Given the description of an element on the screen output the (x, y) to click on. 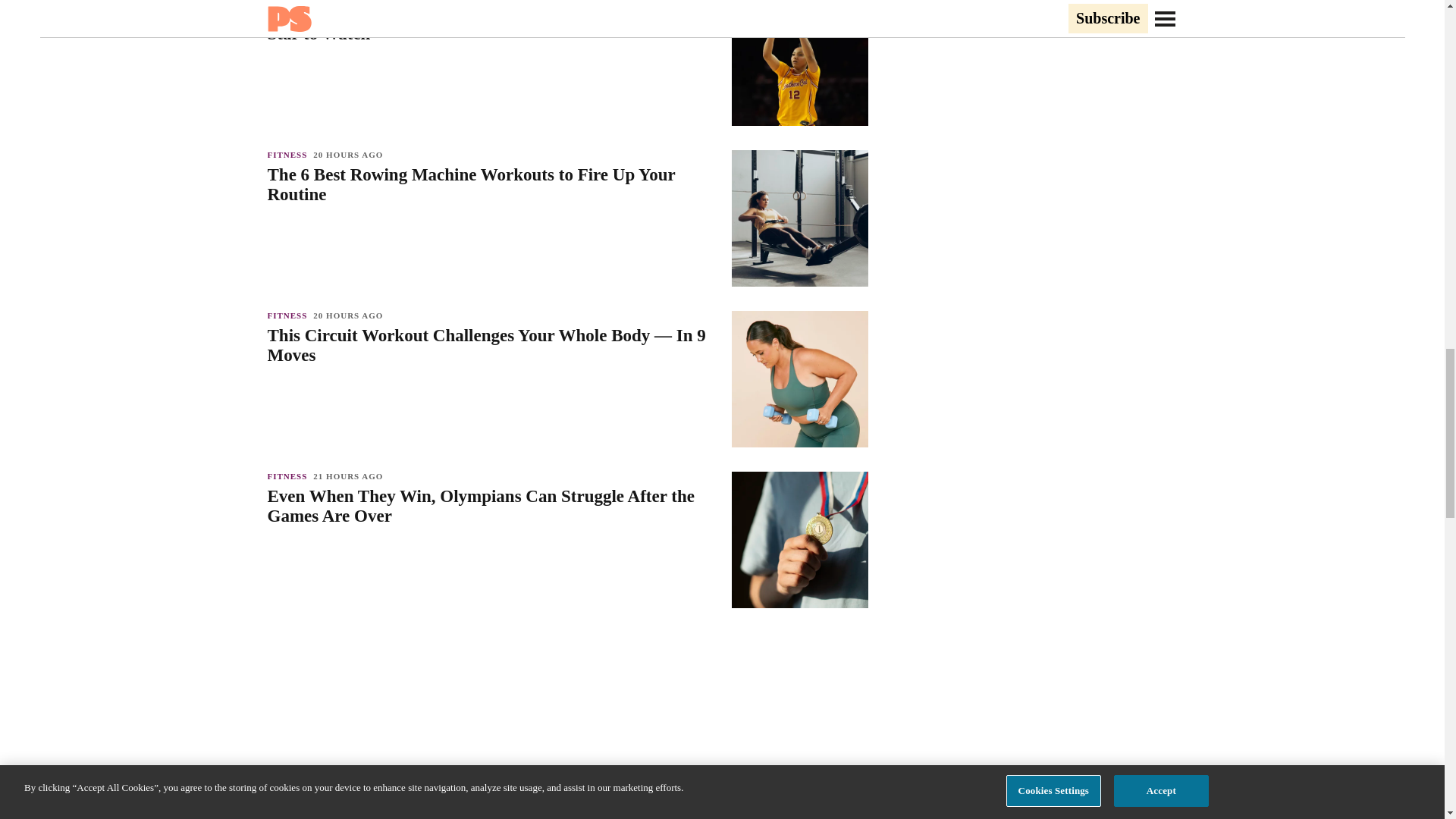
FITNESS (289, 153)
The 6 Best Rowing Machine Workouts to Fire Up Your Routine (491, 184)
FITNESS (289, 315)
